Given the description of an element on the screen output the (x, y) to click on. 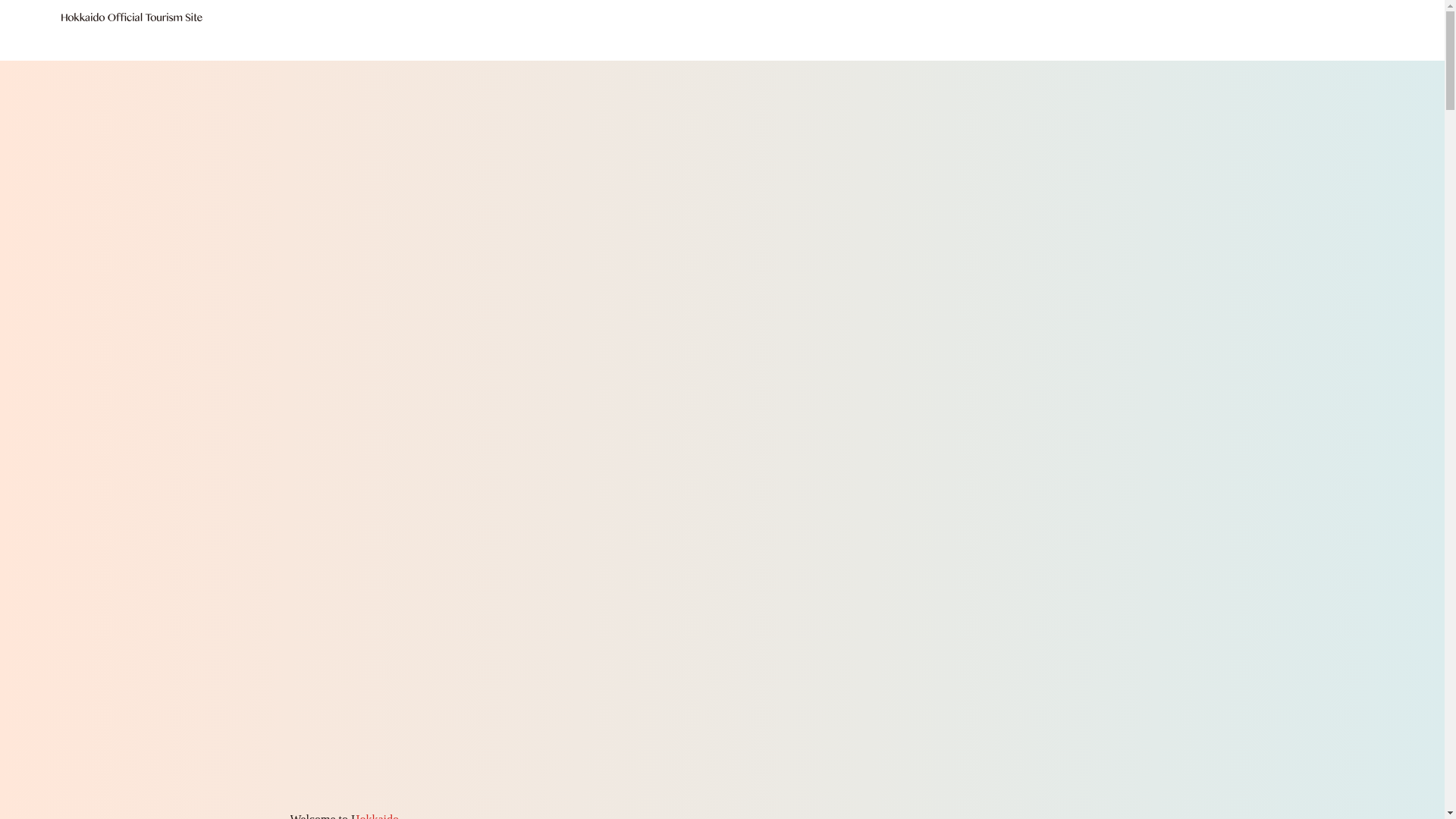
Hokkaido Official Tourism Site HOKKAIDO LOVE! (131, 29)
